Given the description of an element on the screen output the (x, y) to click on. 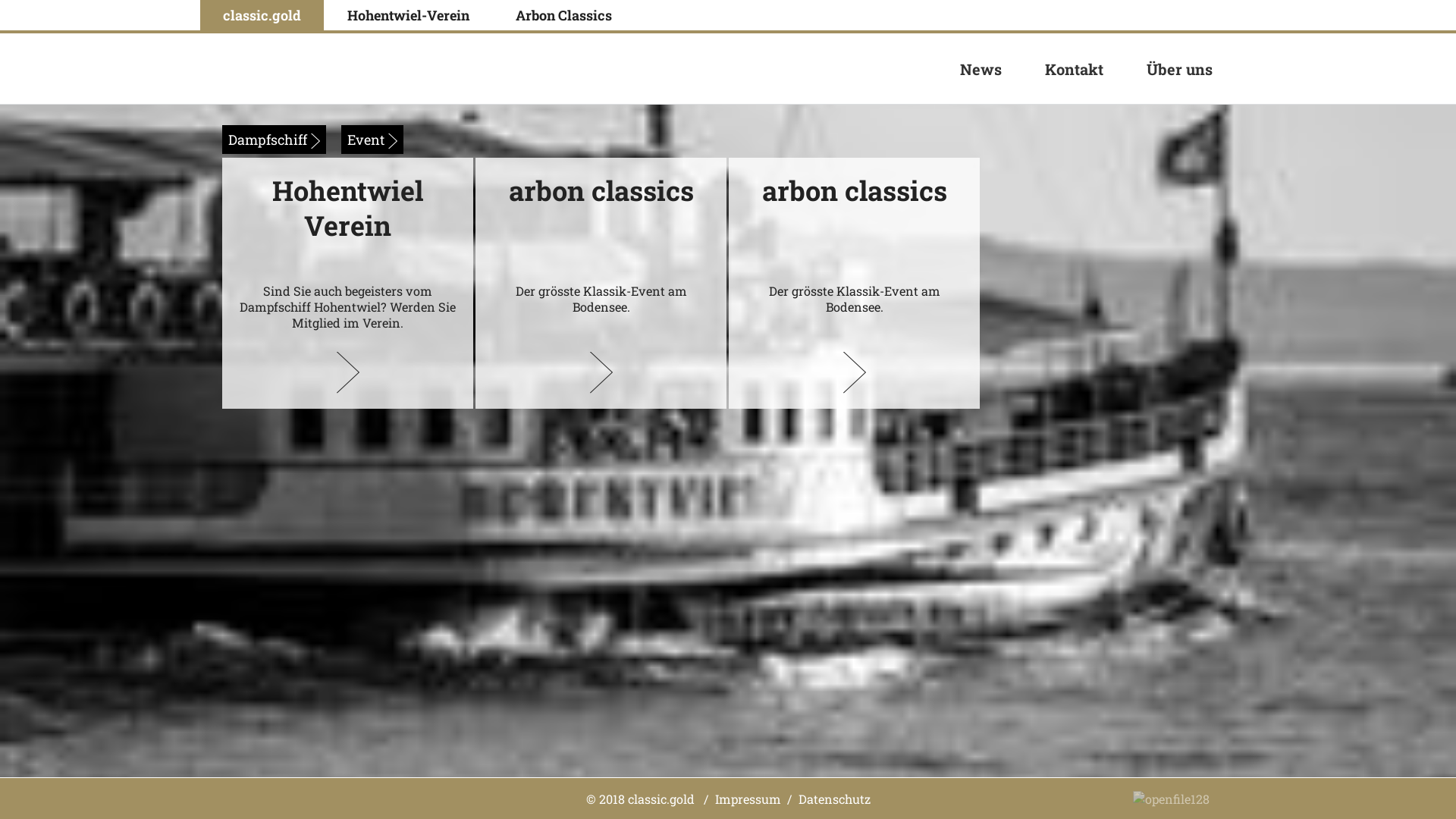
Datenschutz Element type: text (833, 798)
classic.gold Element type: text (261, 15)
Hohentwiel-Verein Element type: text (408, 15)
Kontakt Element type: text (1073, 68)
Impressum Element type: text (747, 798)
Arbon Classics Element type: text (563, 15)
Kontakt Element type: text (1073, 68)
News Element type: text (980, 68)
News Element type: text (980, 68)
